Given the description of an element on the screen output the (x, y) to click on. 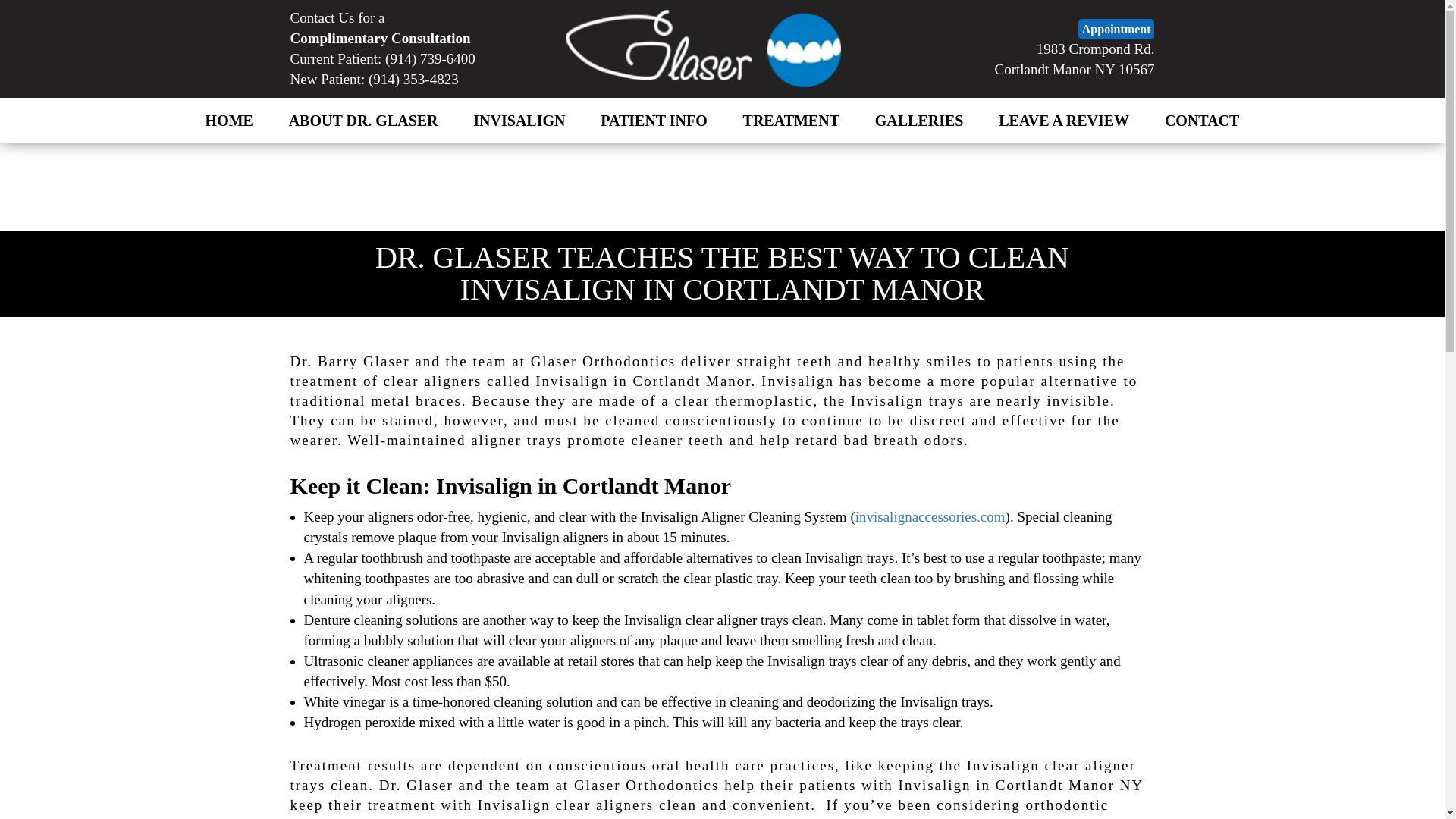
INVISALIGN (518, 121)
HOME (228, 121)
Appointment (1116, 28)
PATIENT INFO (653, 121)
ABOUT DR. GLASER (362, 121)
